Given the description of an element on the screen output the (x, y) to click on. 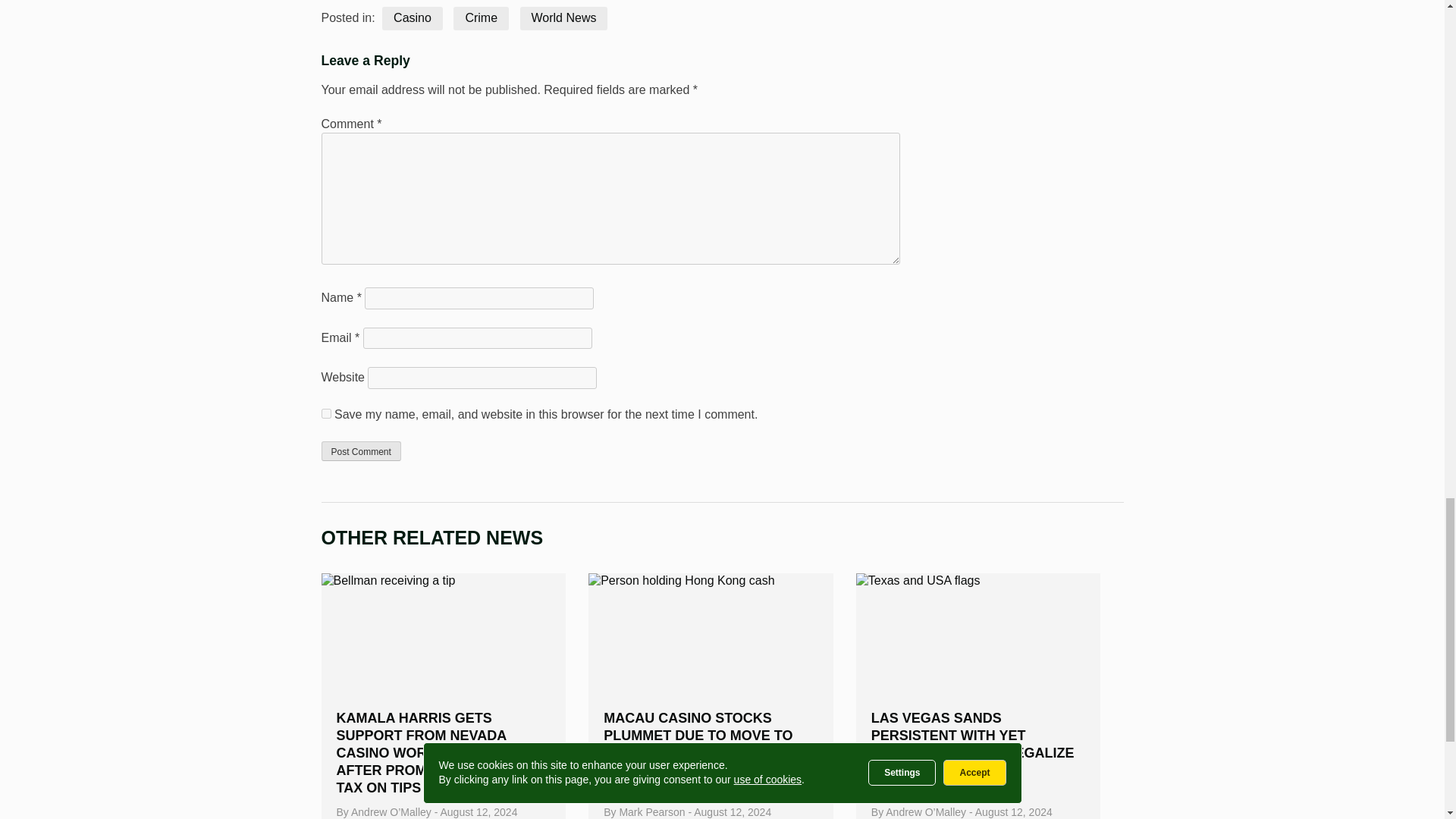
yes (326, 413)
Crime (480, 18)
Post Comment (361, 451)
Post Comment (361, 451)
World News (563, 18)
Casino (411, 18)
